Given the description of an element on the screen output the (x, y) to click on. 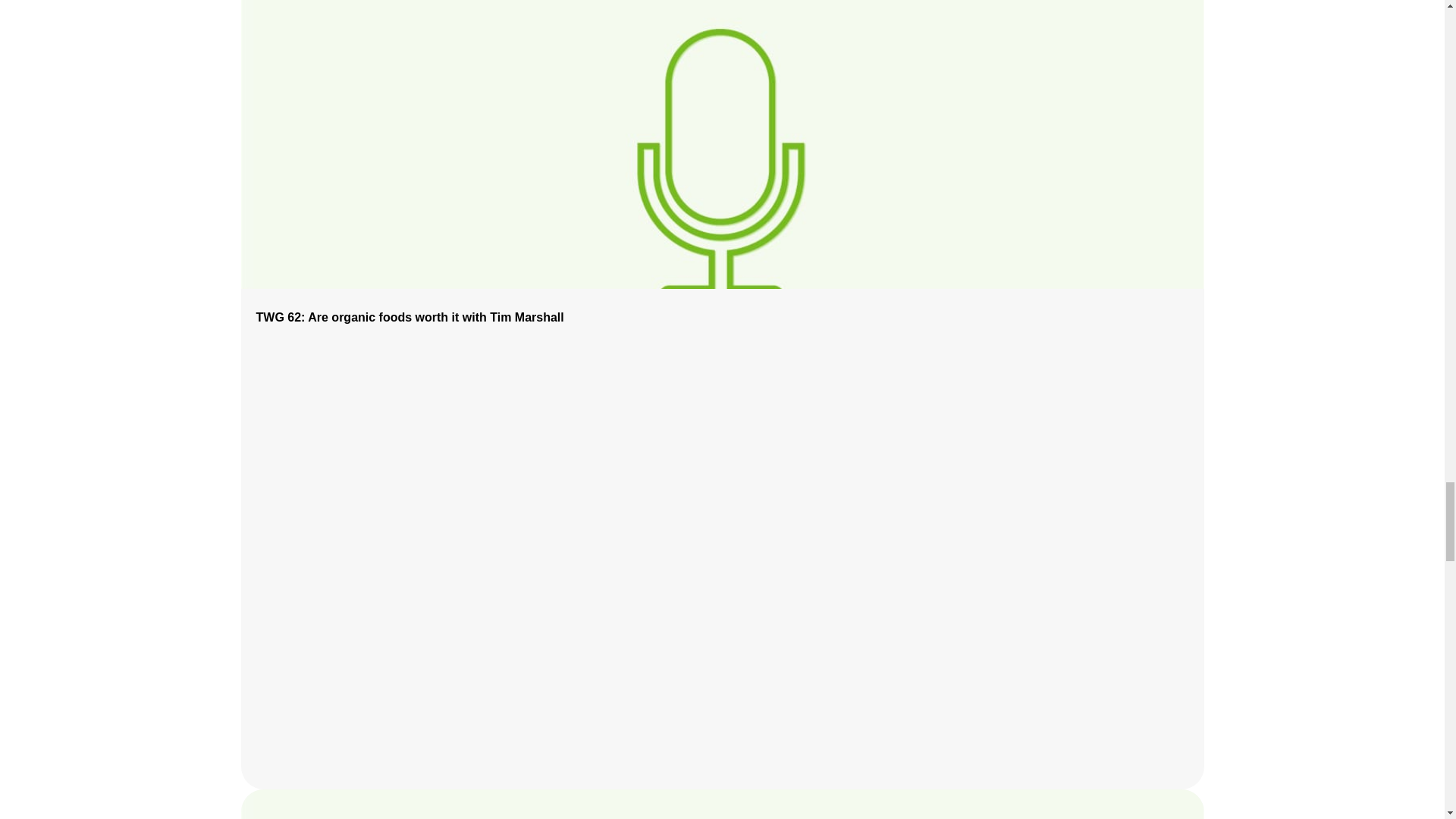
TWG 62: Are organic foods worth it with Tim Marshall (410, 317)
